Given the description of an element on the screen output the (x, y) to click on. 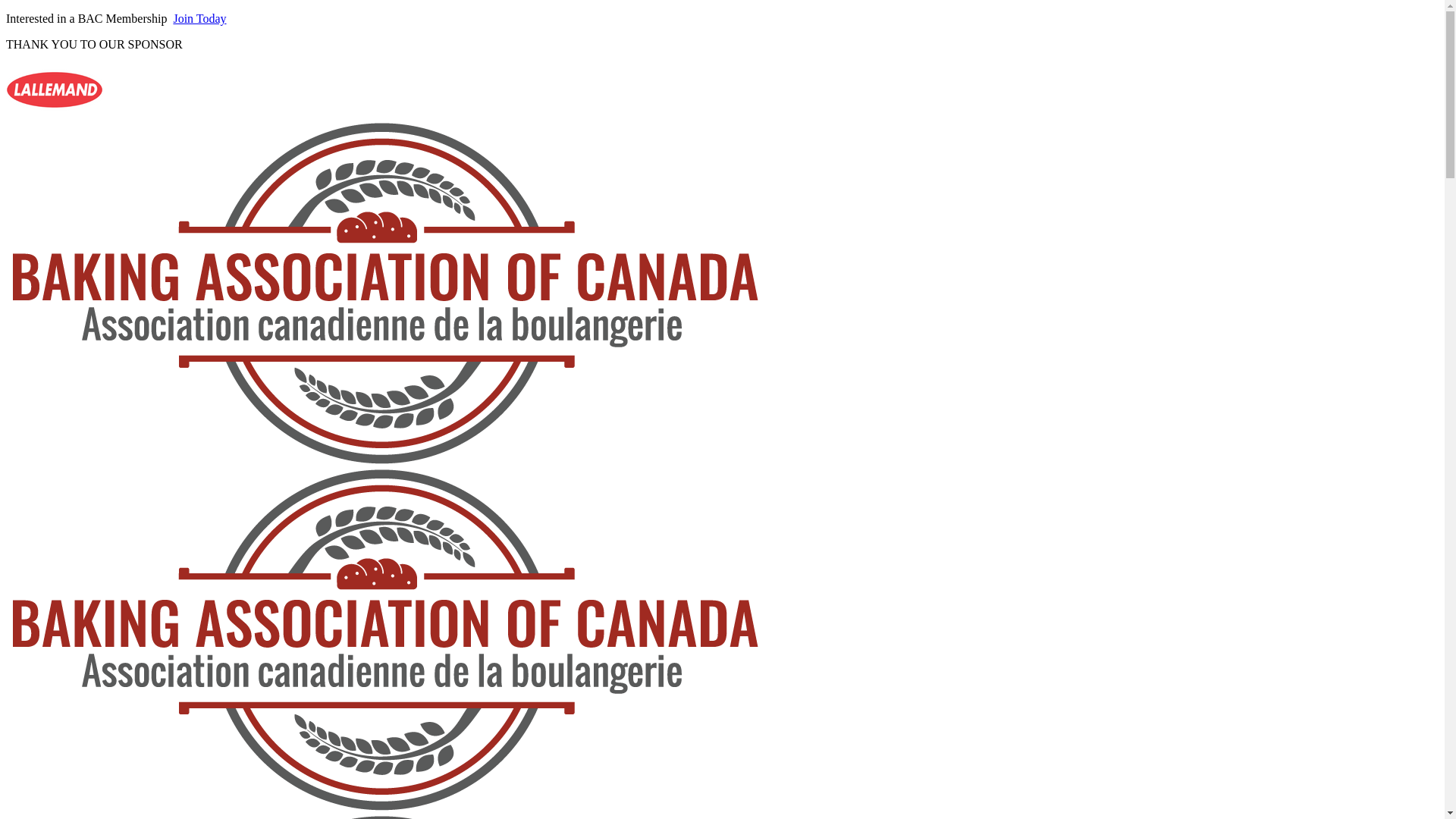
Join Today Element type: text (198, 18)
